Given the description of an element on the screen output the (x, y) to click on. 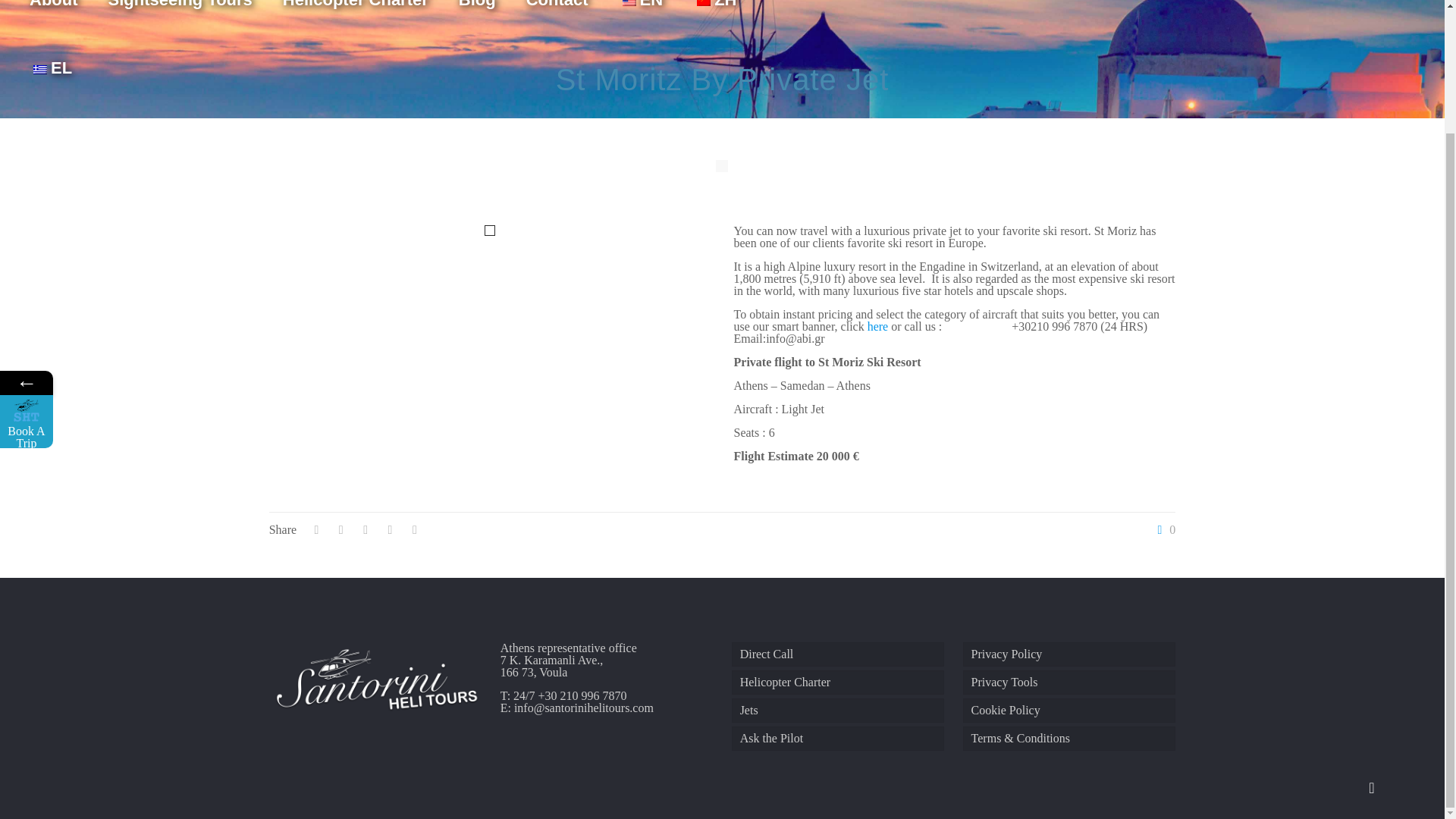
Blog (477, 17)
Greek (39, 69)
here (877, 326)
EL (50, 68)
EN (641, 17)
English (629, 2)
Helicopter Charter (838, 682)
Privacy Policy (1069, 654)
About (53, 17)
0 (1162, 530)
Direct Call (838, 654)
Privacy Tools (1069, 682)
Helicopter Charter (355, 17)
Sightseeing Tours (180, 17)
Contact (557, 17)
